Given the description of an element on the screen output the (x, y) to click on. 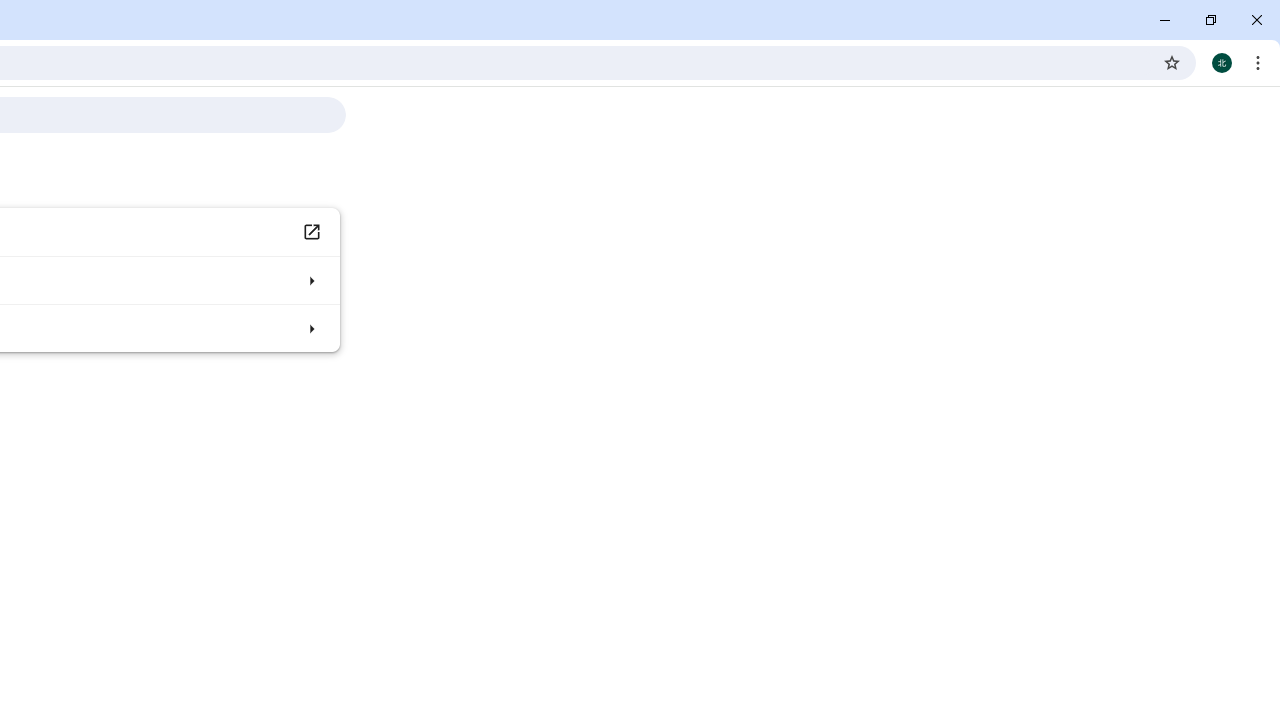
Addresses and more (310, 327)
Google Password Manager (310, 232)
Payment methods (310, 280)
